Given the description of an element on the screen output the (x, y) to click on. 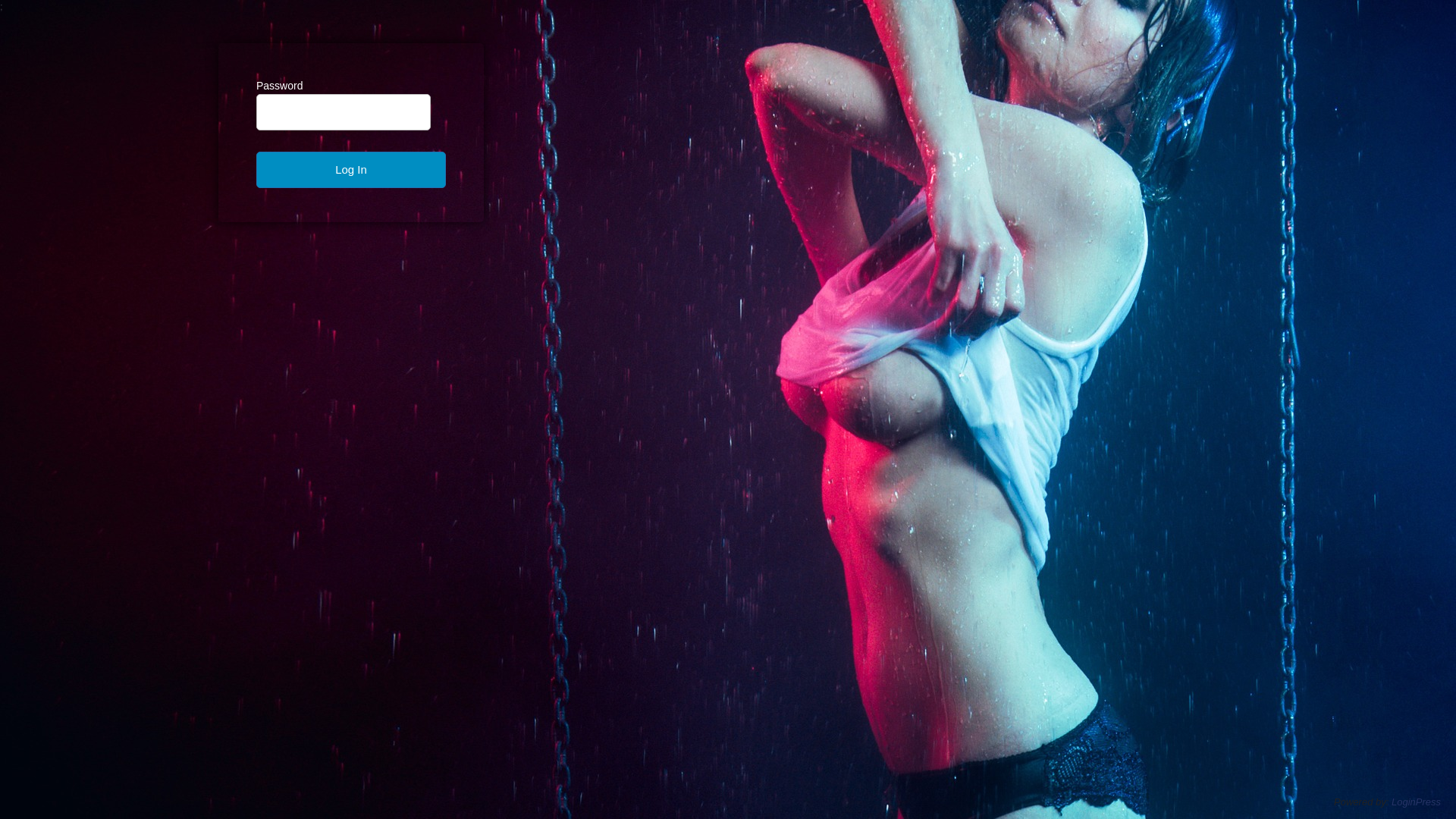
LoginPress Element type: text (1415, 801)
Log In Element type: text (350, 169)
